Given the description of an element on the screen output the (x, y) to click on. 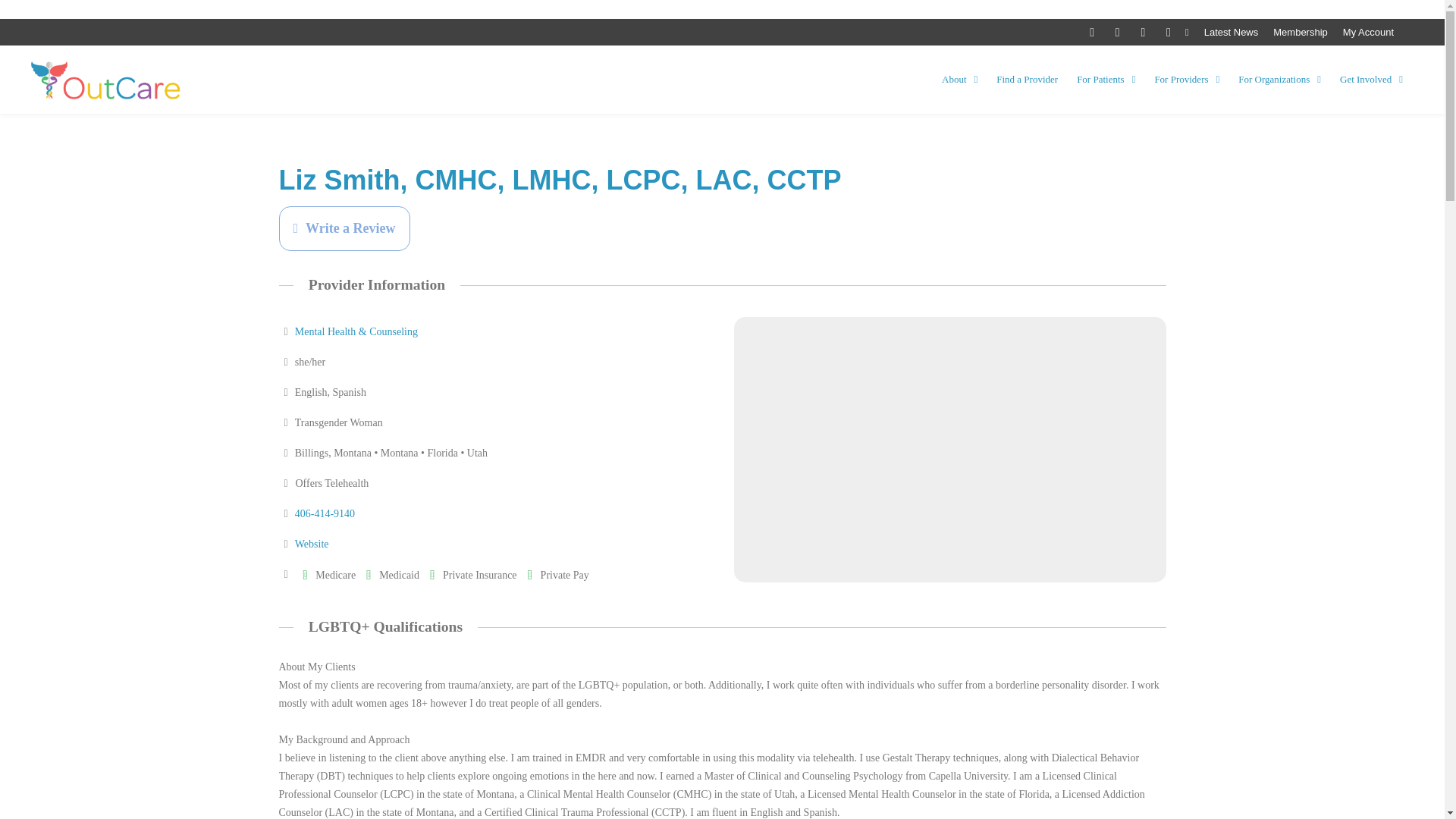
Membership (1299, 31)
My Account (1367, 31)
Find a Provider (1026, 79)
For Providers (1187, 79)
OutCare (106, 79)
Latest News (1231, 31)
For Patients (1105, 79)
